Given the description of an element on the screen output the (x, y) to click on. 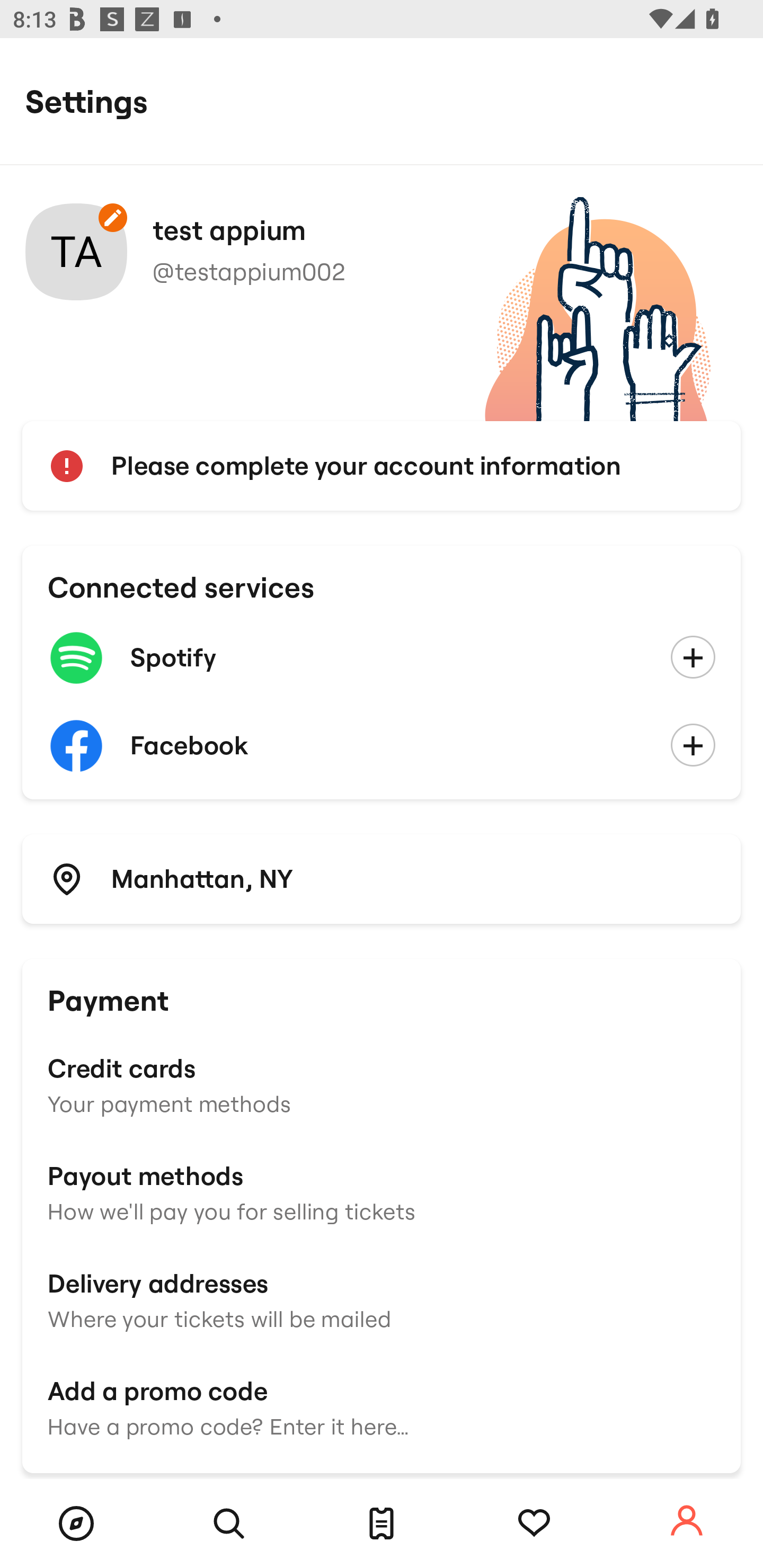
Your account photo (76, 252)
Please complete your account information (381, 466)
Spotify (381, 658)
Facebook (381, 746)
Manhattan, NY (381, 878)
Credit cards Your payment methods (381, 1084)
Add a promo code Have a promo code? Enter it here… (381, 1406)
Browse (76, 1523)
Search (228, 1523)
Tickets (381, 1523)
Tracking (533, 1523)
Account (686, 1521)
